Given the description of an element on the screen output the (x, y) to click on. 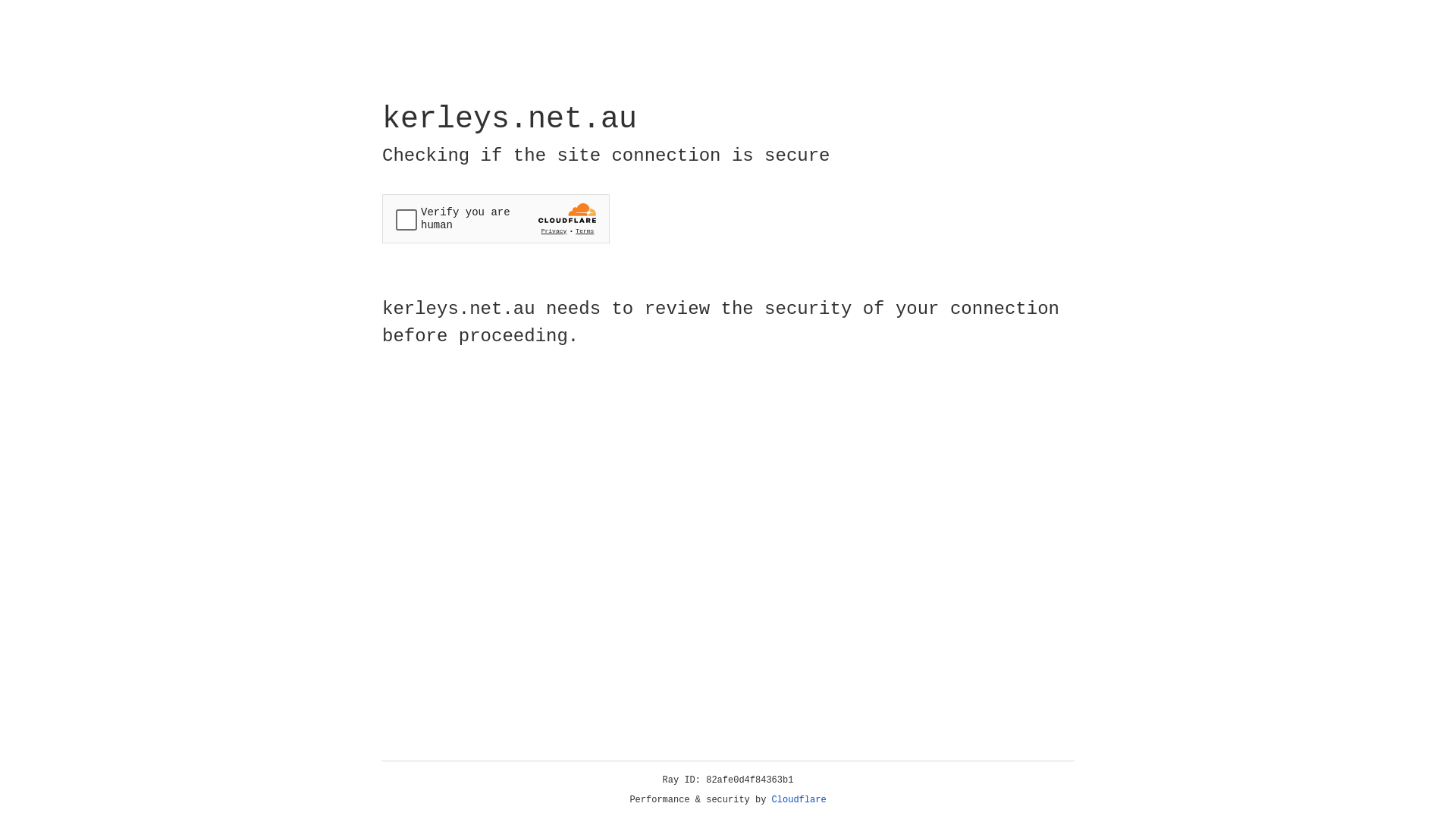
Cloudflare Element type: text (798, 799)
Widget containing a Cloudflare security challenge Element type: hover (495, 218)
